Given the description of an element on the screen output the (x, y) to click on. 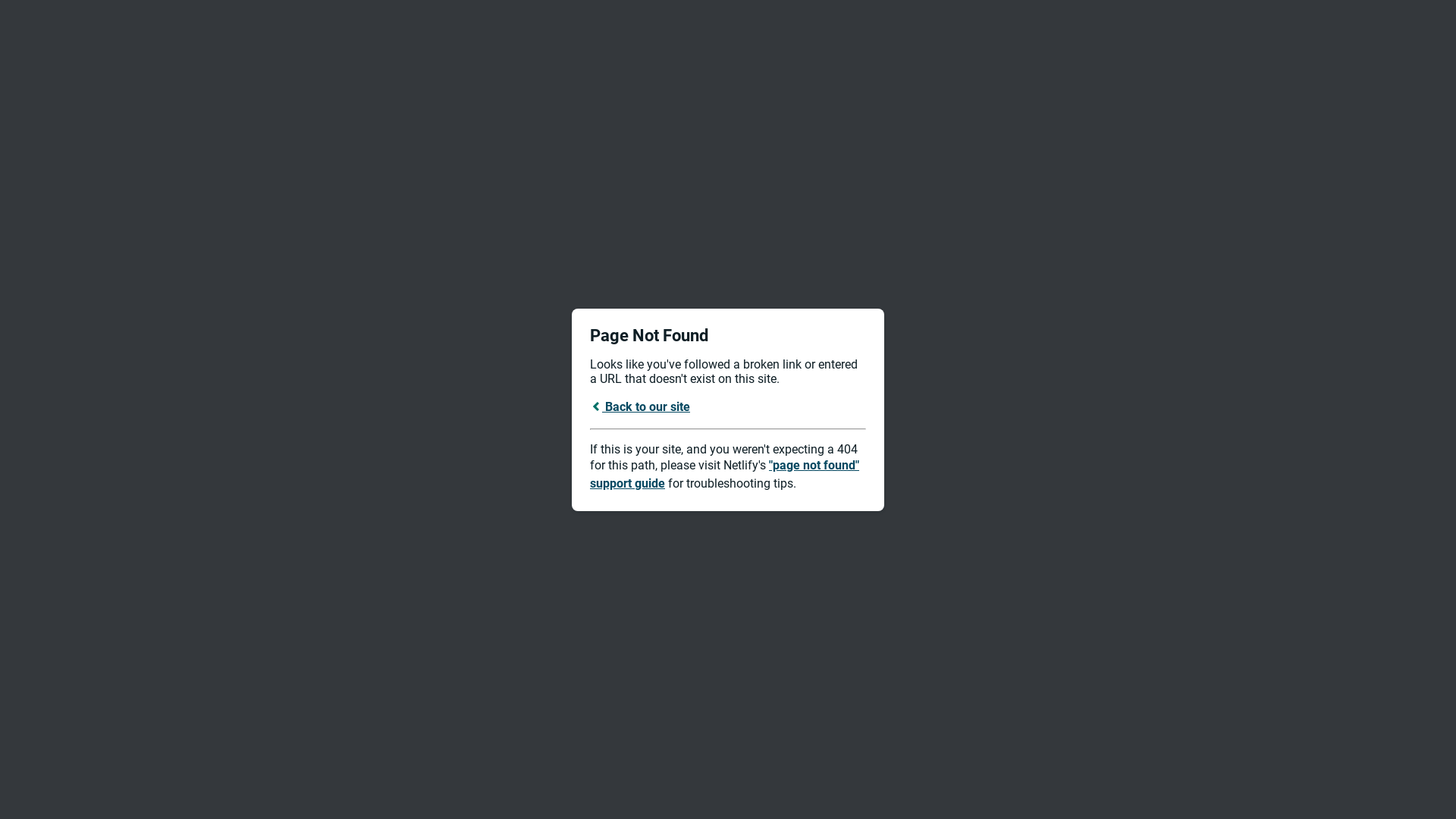
Back to our site Element type: text (639, 405)
"page not found" support guide Element type: text (724, 474)
